Given the description of an element on the screen output the (x, y) to click on. 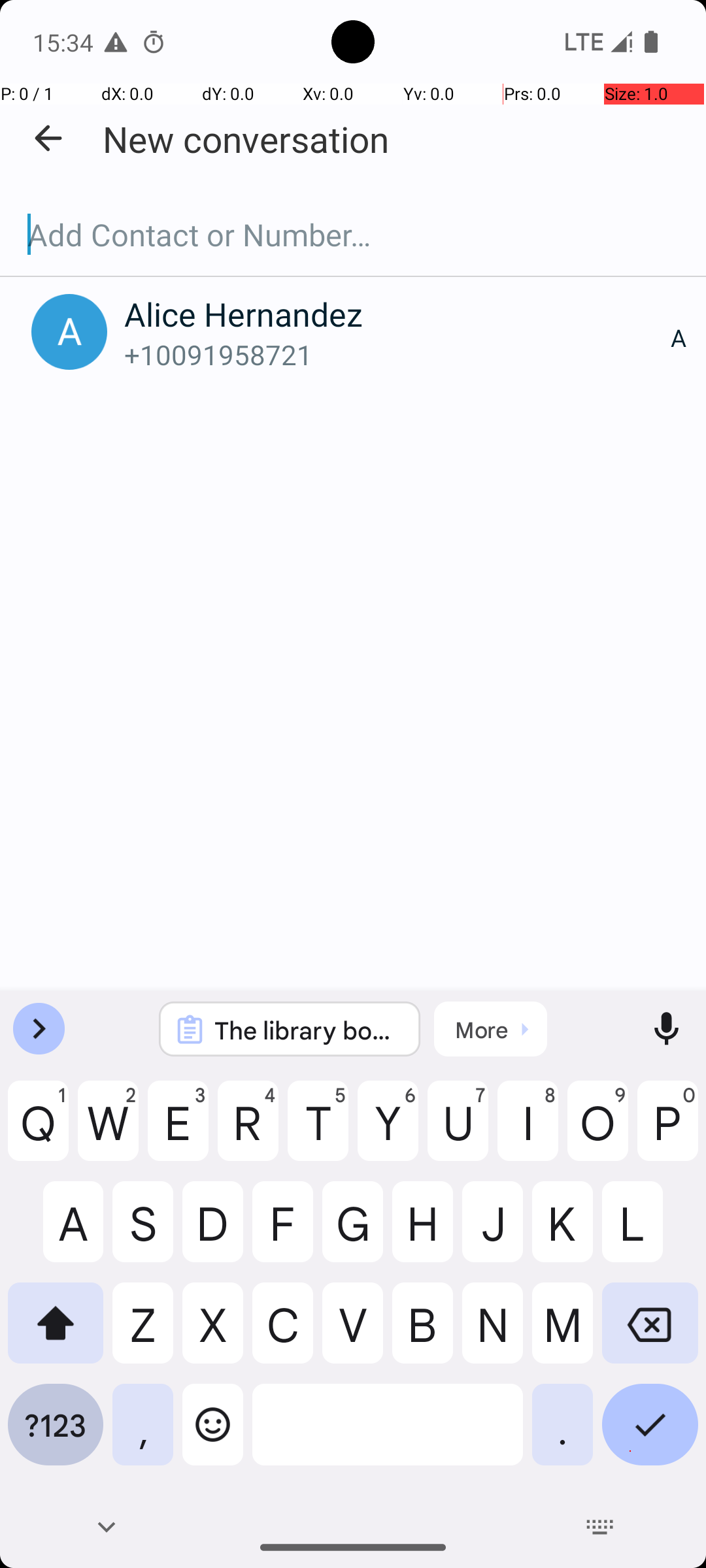
New conversation Element type: android.widget.TextView (245, 138)
Add Contact or Number… Element type: android.widget.EditText (352, 234)
Alice Hernandez Element type: android.widget.TextView (397, 313)
+10091958721 Element type: android.widget.TextView (397, 354)
The library book is due back on the 15th. Element type: android.widget.TextView (306, 1029)
